Given the description of an element on the screen output the (x, y) to click on. 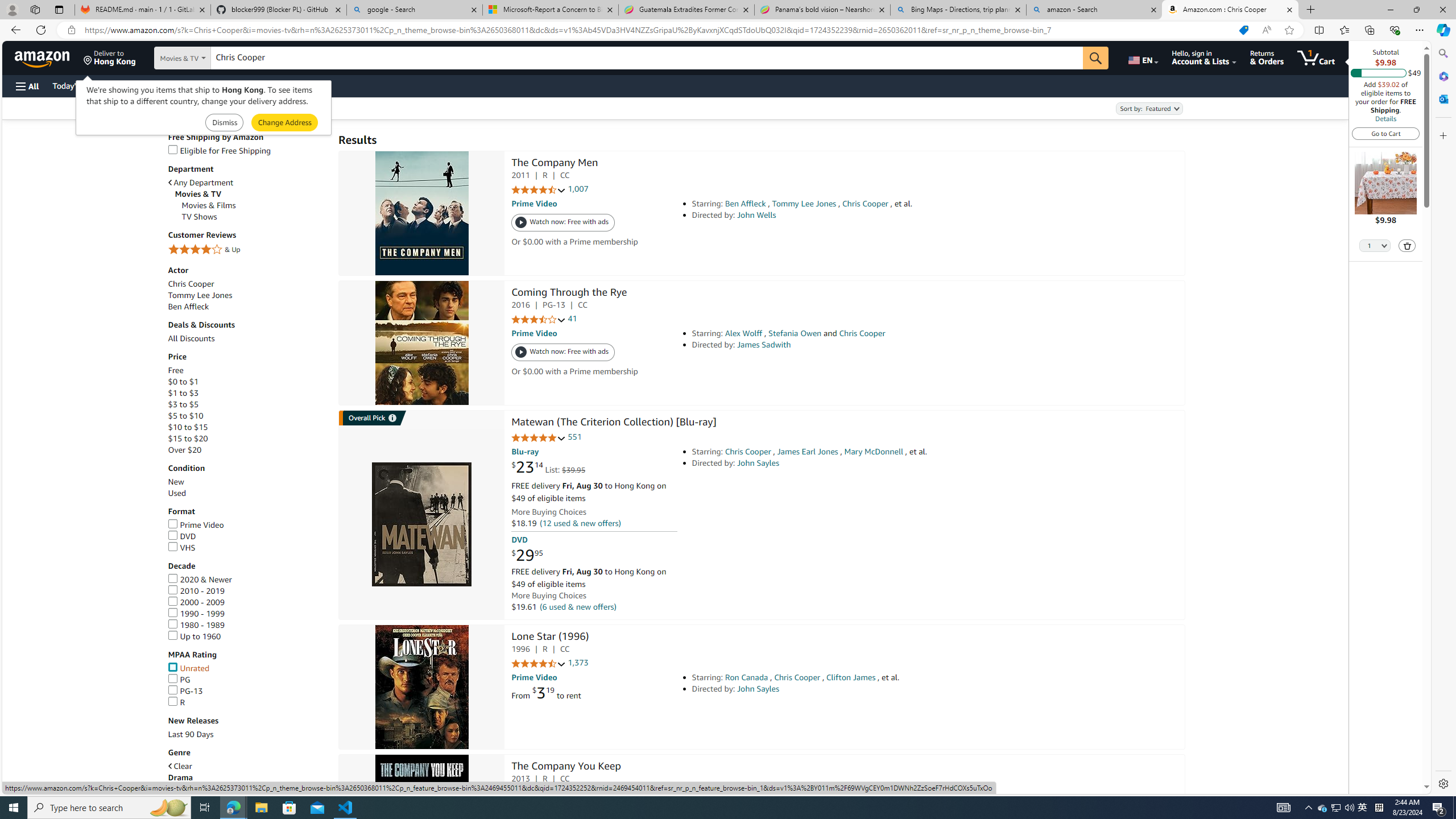
Alex Wolff (743, 333)
John Wells (756, 214)
(6 used & new offers) (577, 606)
Deliver to Hong Kong (109, 57)
Starring: Alex Wolff , Stefania Owen and Chris Cooper (850, 333)
Eligible for Free Shipping (218, 150)
1990 - 1999 (247, 614)
Open Menu (26, 86)
4 Stars & Up (247, 250)
